Given the description of an element on the screen output the (x, y) to click on. 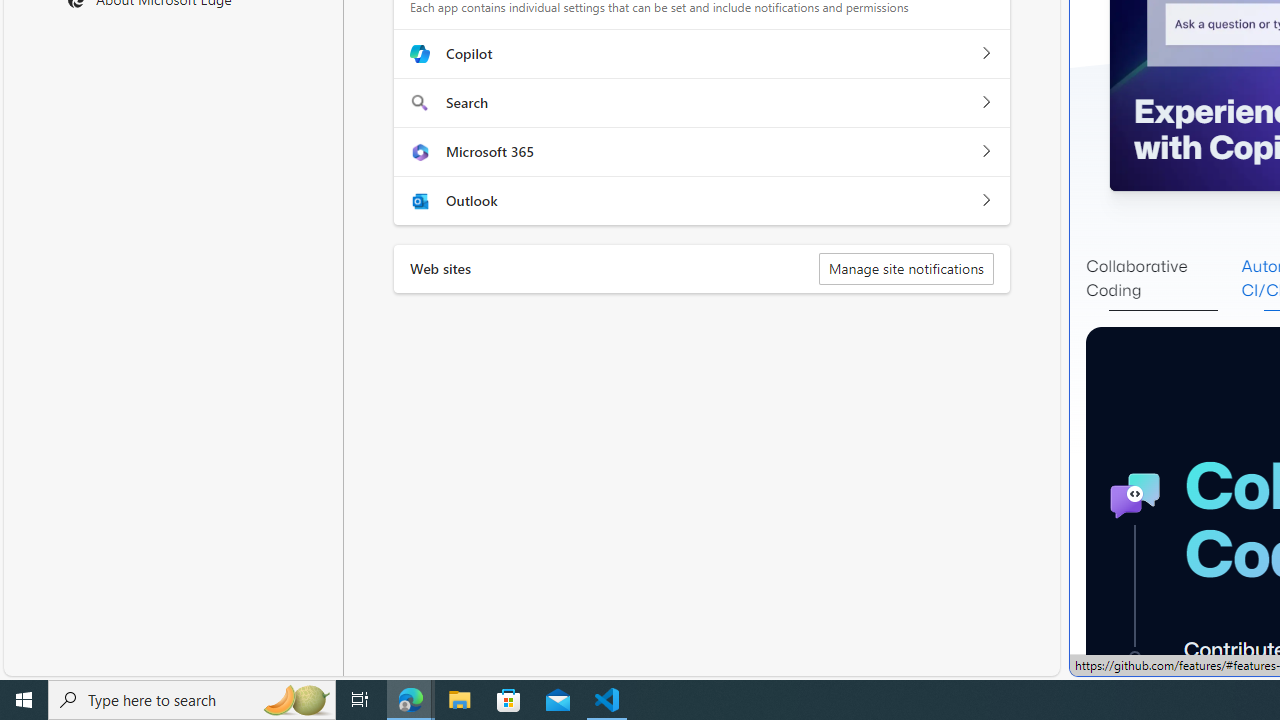
Manage site notifications (905, 268)
Copilot (985, 54)
GitHub Collaboration Icon (1134, 496)
Collaborative Coding (1163, 278)
